Given the description of an element on the screen output the (x, y) to click on. 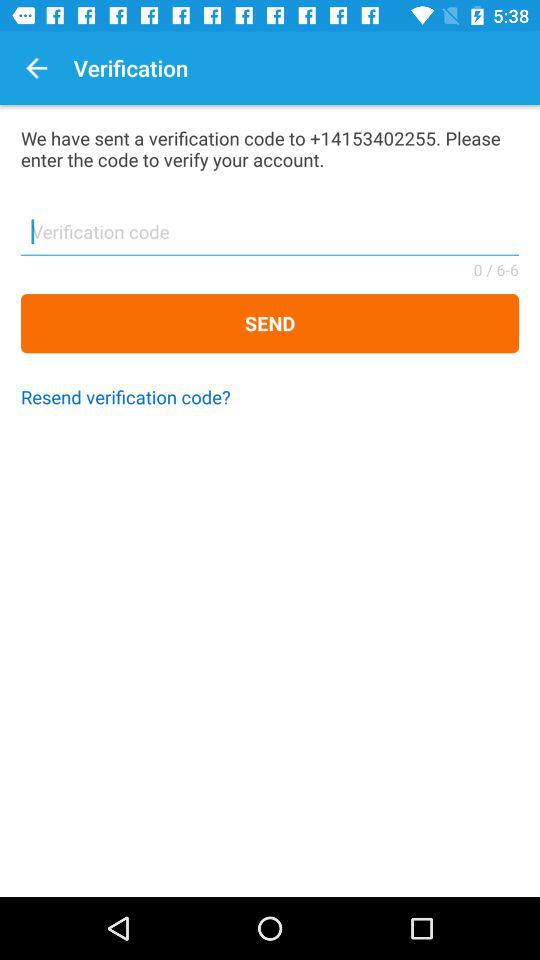
text box for verification code (270, 238)
